Given the description of an element on the screen output the (x, y) to click on. 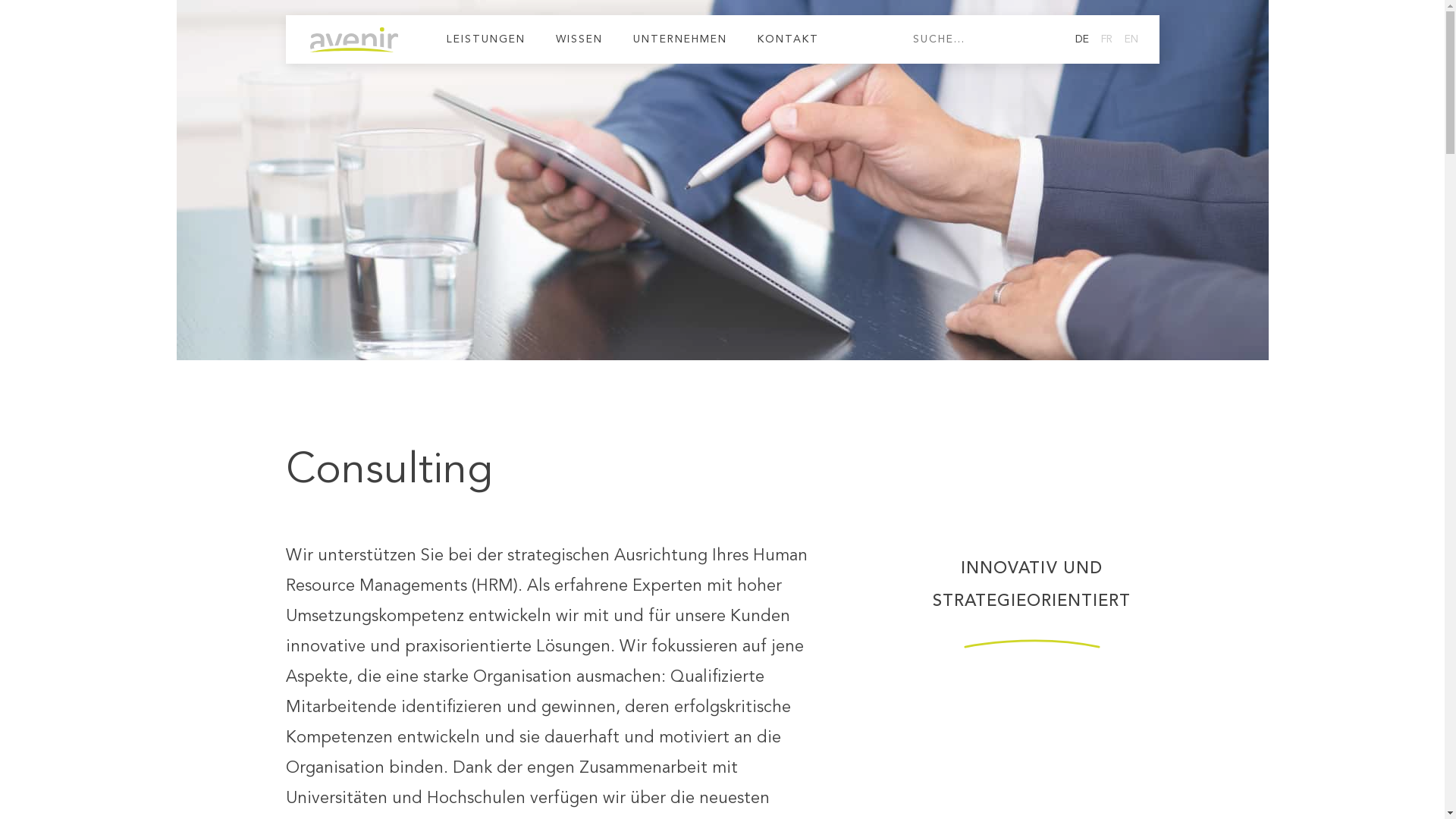
KONTAKT Element type: text (787, 39)
DE Element type: text (1082, 39)
LEISTUNGEN Element type: text (484, 39)
WISSEN Element type: text (578, 39)
UNTERNEHMEN Element type: text (679, 39)
FR Element type: text (1106, 39)
EN Element type: text (1130, 39)
